Given the description of an element on the screen output the (x, y) to click on. 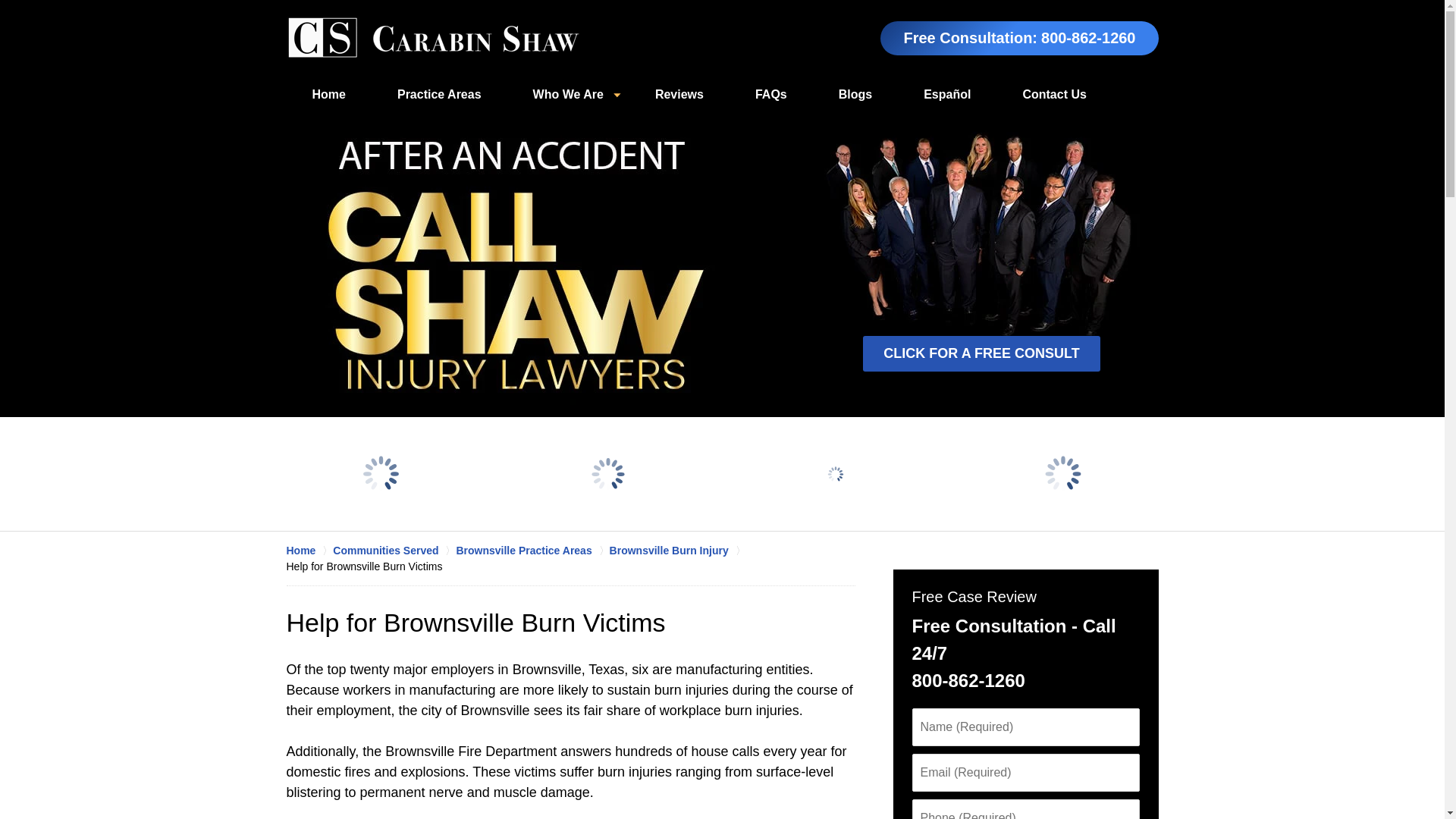
FAQs (770, 94)
Communities Served (394, 550)
Who We Are (567, 94)
CLICK FOR A FREE CONSULT (981, 353)
Brownsville Practice Areas (531, 550)
Brownsville Burn Injury (677, 550)
Practice Areas (438, 94)
Free Case Review (973, 596)
Reviews (678, 94)
Home (328, 94)
Blogs (855, 94)
Contact Us (1053, 94)
Cameron County Personal Injury Lawyers Carabin Shaw Home (432, 37)
Back to Home (432, 37)
Home (309, 550)
